Given the description of an element on the screen output the (x, y) to click on. 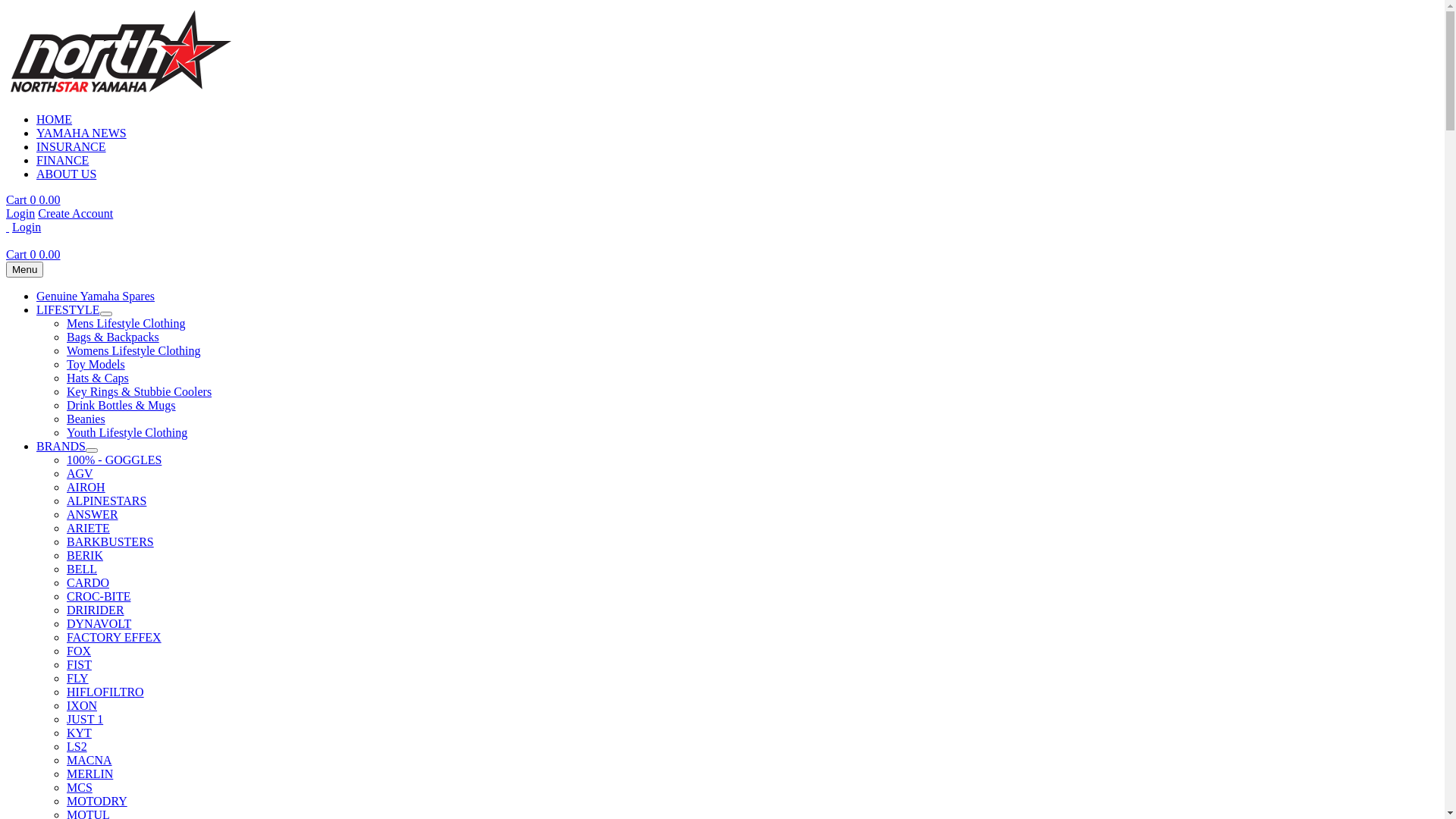
YAMAHA NEWS Element type: text (81, 132)
IXON Element type: text (81, 705)
CARDO Element type: text (87, 582)
INSURANCE Element type: text (71, 146)
DYNAVOLT Element type: text (98, 623)
DRIRIDER Element type: text (95, 609)
Login Element type: text (20, 213)
Beanies Element type: text (85, 418)
Bags & Backpacks Element type: text (112, 336)
  Element type: text (7, 226)
Cart 0 0.00 Element type: text (33, 253)
Youth Lifestyle Clothing Element type: text (126, 432)
Key Rings & Stubbie Coolers Element type: text (138, 391)
MACNA Element type: text (89, 759)
Drink Bottles & Mugs Element type: text (120, 404)
Create Account Element type: text (74, 213)
FOX Element type: text (78, 650)
AIROH Element type: text (85, 486)
LS2 Element type: text (76, 746)
KYT Element type: text (78, 732)
JUST 1 Element type: text (84, 718)
Cart 0 0.00 Element type: text (33, 199)
AGV Element type: text (79, 473)
MOTODRY Element type: text (96, 800)
LIFESTYLE Element type: text (68, 309)
FLY Element type: text (77, 677)
ABOUT US Element type: text (66, 173)
MCS Element type: text (79, 787)
Login Element type: text (26, 226)
HIFLOFILTRO Element type: text (105, 691)
ARIETE Element type: text (87, 527)
BRANDS Element type: text (60, 445)
FIST Element type: text (78, 664)
HOME Element type: text (54, 118)
Genuine Yamaha Spares Element type: text (95, 295)
ANSWER Element type: text (92, 514)
100% - GOGGLES Element type: text (113, 459)
BERIK Element type: text (84, 555)
Womens Lifestyle Clothing Element type: text (133, 350)
Hats & Caps Element type: text (97, 377)
FACTORY EFFEX Element type: text (113, 636)
MERLIN Element type: text (89, 773)
Menu Element type: text (24, 269)
Toy Models Element type: text (95, 363)
CROC-BITE Element type: text (98, 595)
FINANCE Element type: text (62, 159)
Mens Lifestyle Clothing Element type: text (125, 322)
ALPINESTARS Element type: text (106, 500)
BELL Element type: text (81, 568)
BARKBUSTERS Element type: text (109, 541)
